Given the description of an element on the screen output the (x, y) to click on. 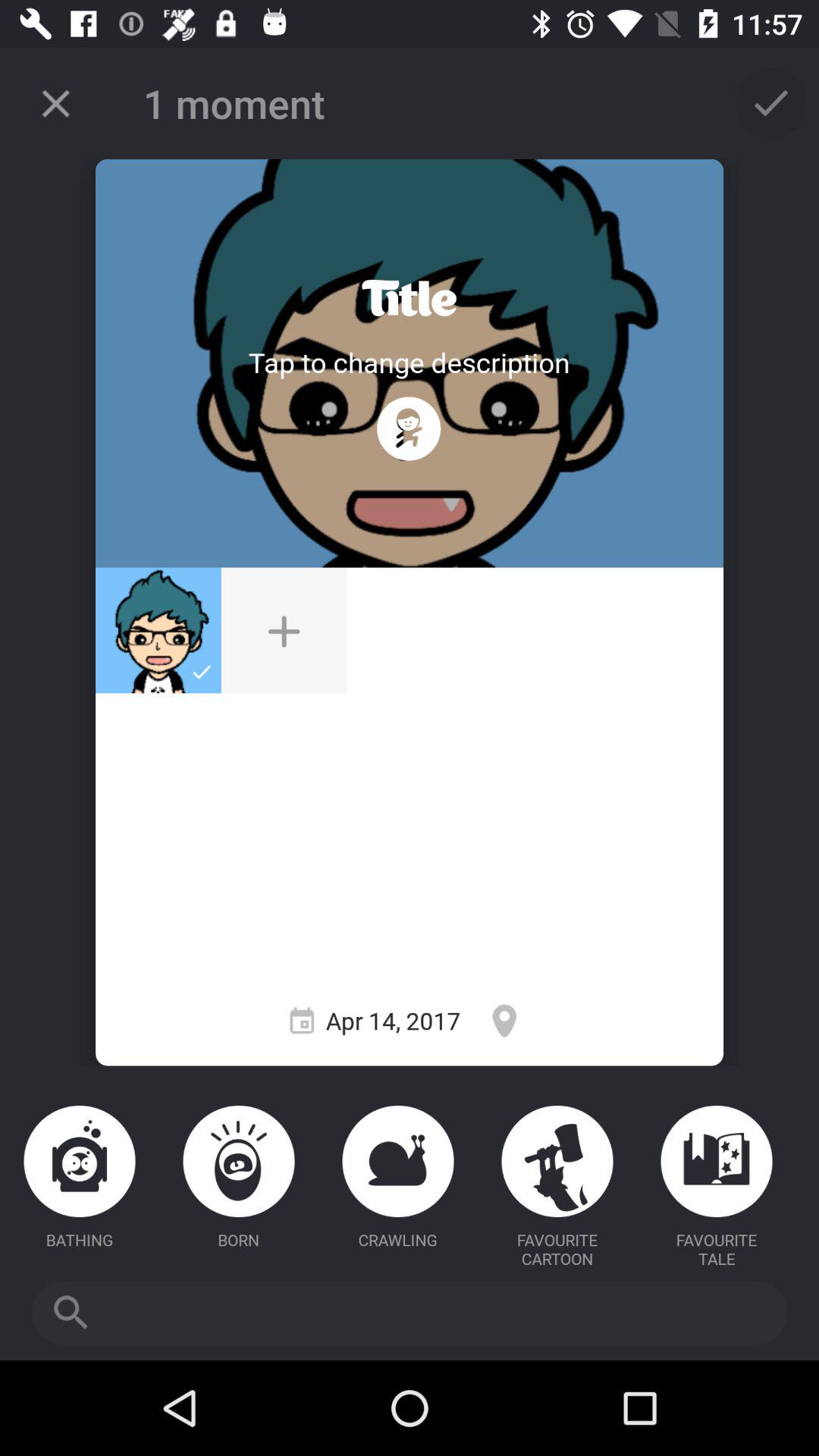
search bar (409, 1312)
